Given the description of an element on the screen output the (x, y) to click on. 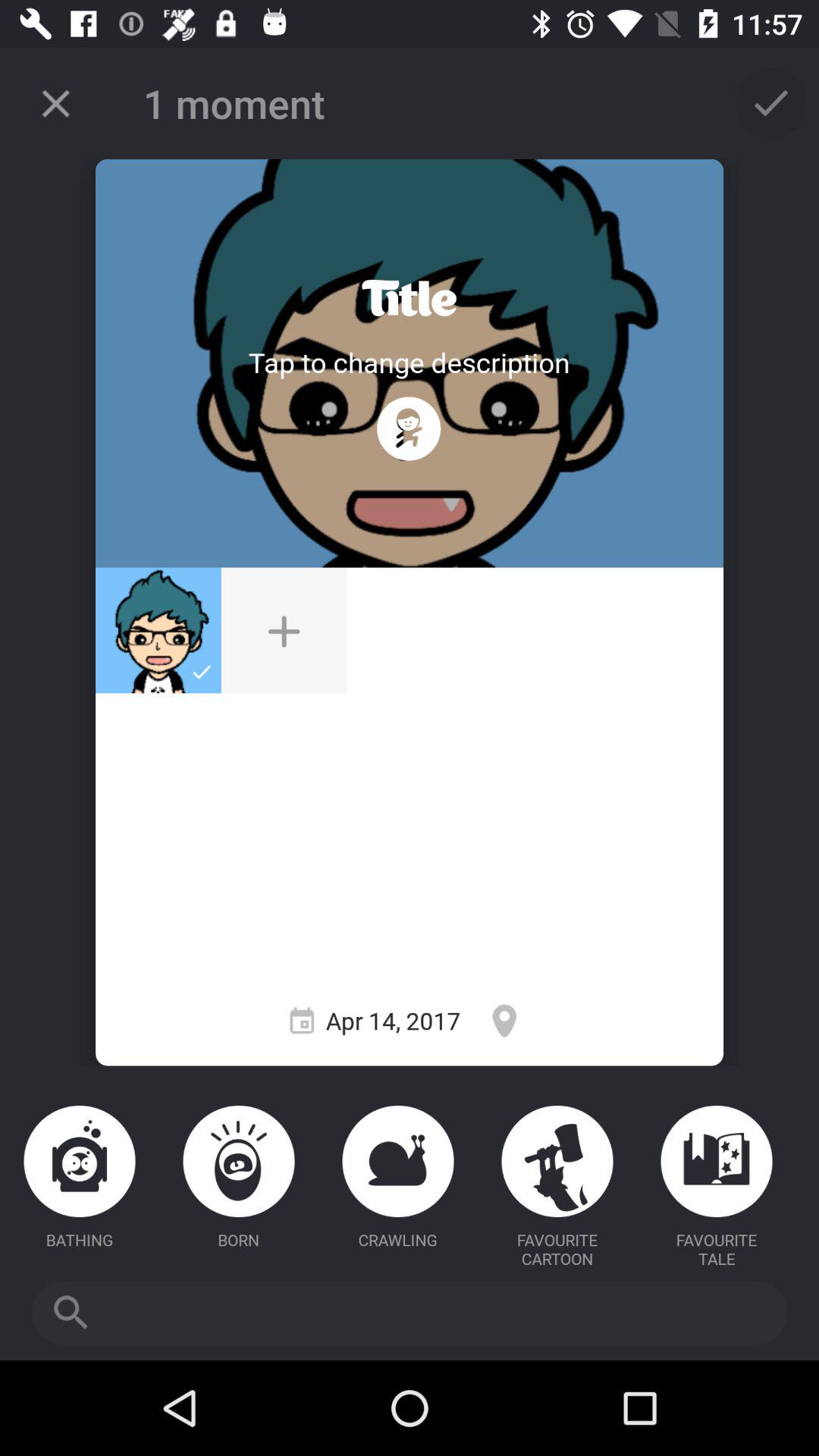
search bar (409, 1312)
